Given the description of an element on the screen output the (x, y) to click on. 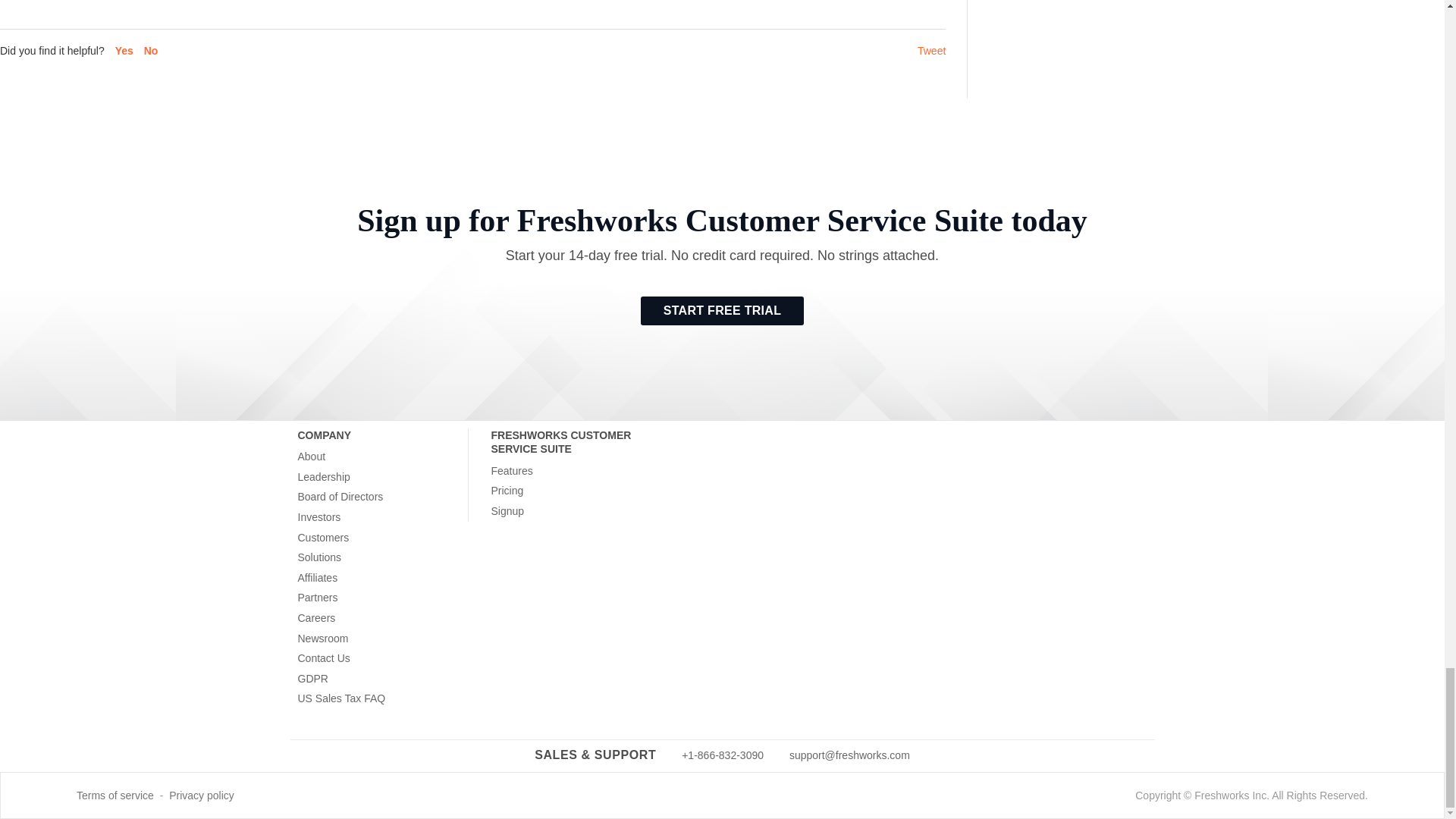
Tweet (930, 50)
